Given the description of an element on the screen output the (x, y) to click on. 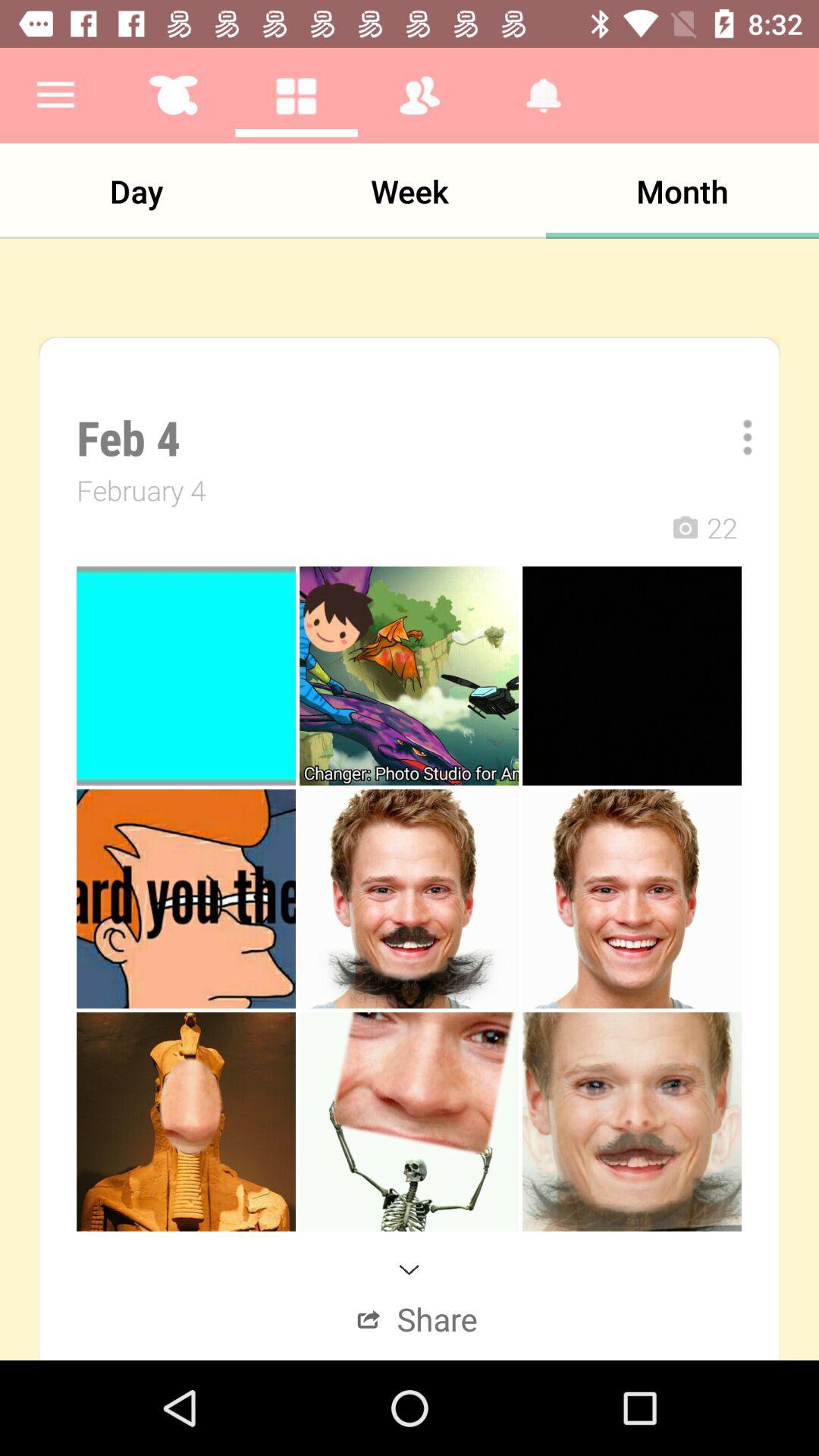
press the item to the right of the feb 4 icon (737, 437)
